Given the description of an element on the screen output the (x, y) to click on. 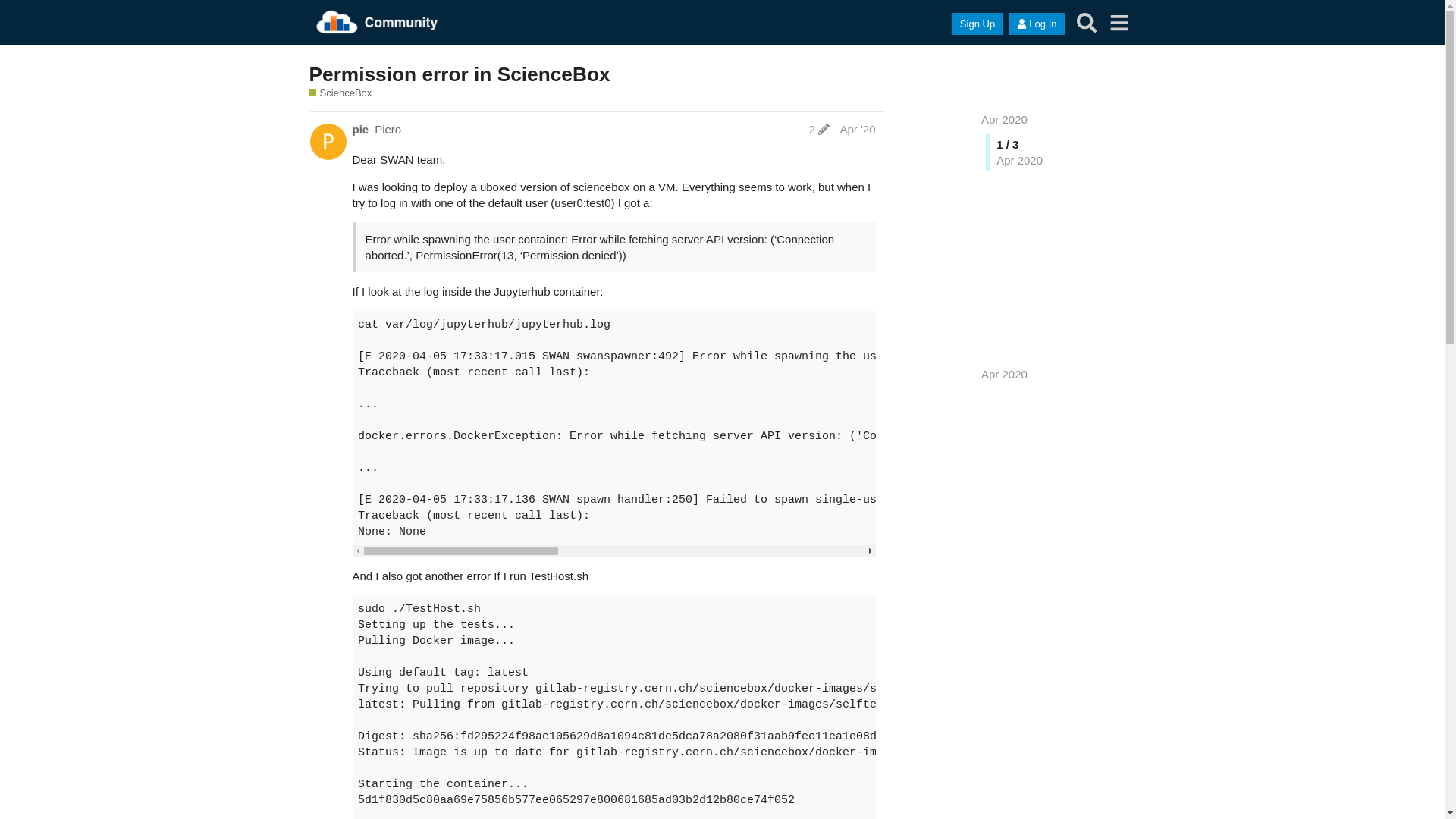
Apr 2020 Element type: text (1004, 118)
menu Element type: hover (1119, 22)
Permission error in ScienceBox Element type: text (459, 73)
2 Element type: text (819, 128)
Search Element type: hover (1086, 22)
Log In Element type: text (1036, 23)
Apr '20 Element type: text (857, 128)
pie Element type: text (359, 129)
Apr 2020 Element type: text (1004, 374)
Piero Element type: text (387, 128)
Sign Up Element type: text (977, 23)
ScienceBox Element type: text (340, 93)
